Given the description of an element on the screen output the (x, y) to click on. 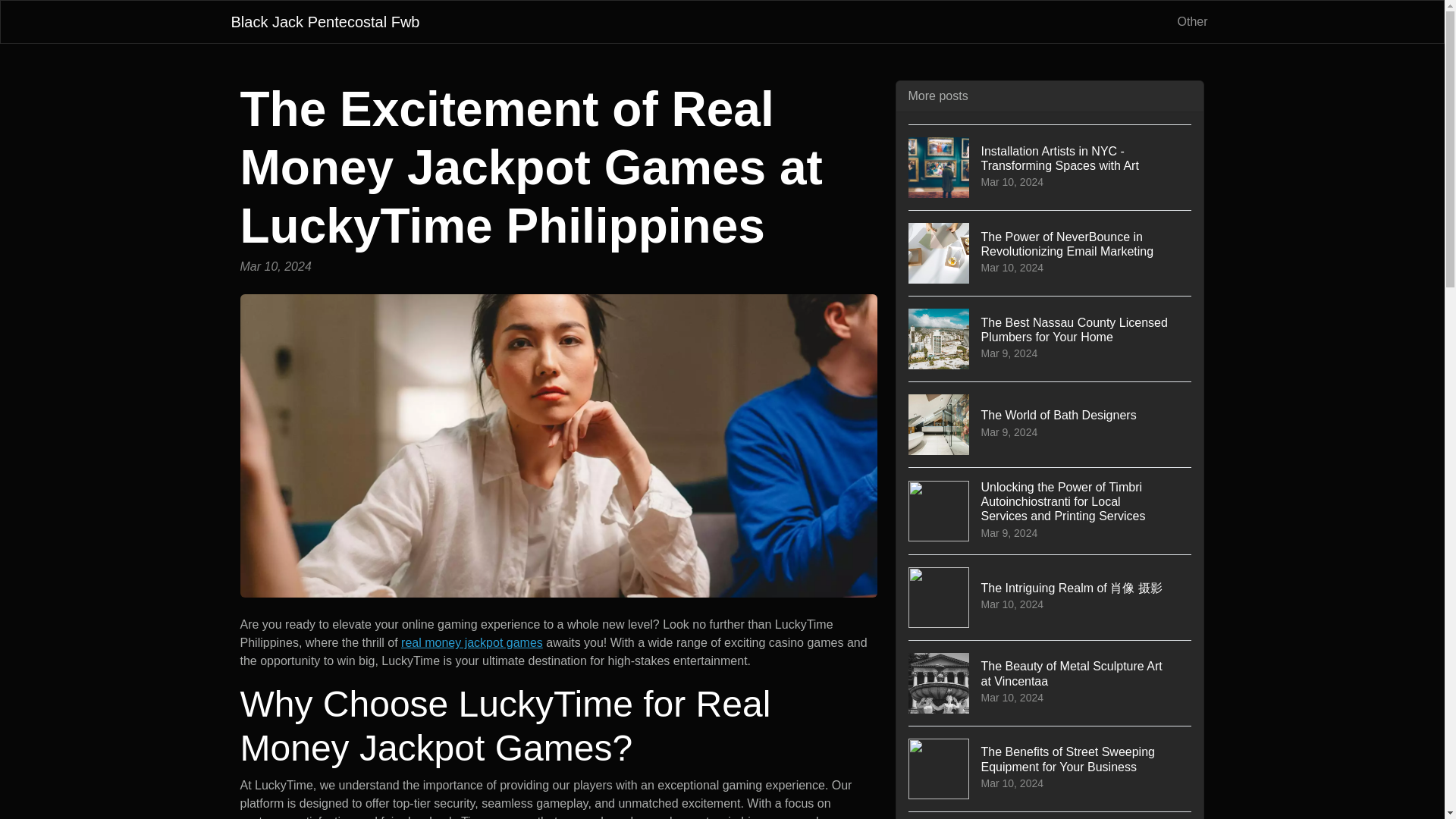
Other (1191, 21)
Black Jack Pentecostal Fwb (1050, 682)
real money jackpot games (1050, 423)
